Given the description of an element on the screen output the (x, y) to click on. 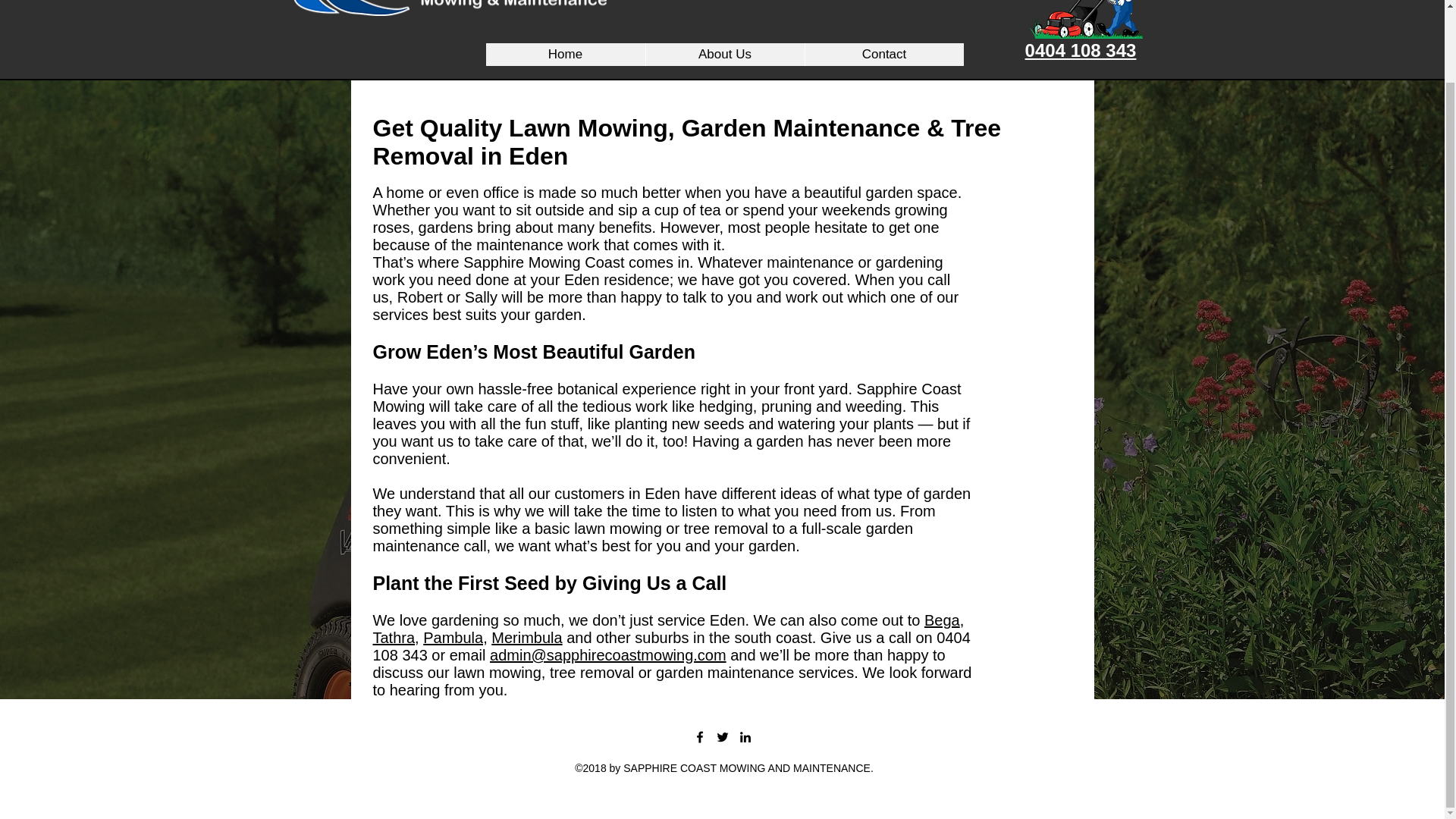
Merimbula (527, 637)
Tathra (393, 637)
0404 108 343 (1081, 50)
Home (564, 54)
Pambula, (455, 637)
Contact (882, 54)
Bega (941, 619)
About Us (724, 54)
